Given the description of an element on the screen output the (x, y) to click on. 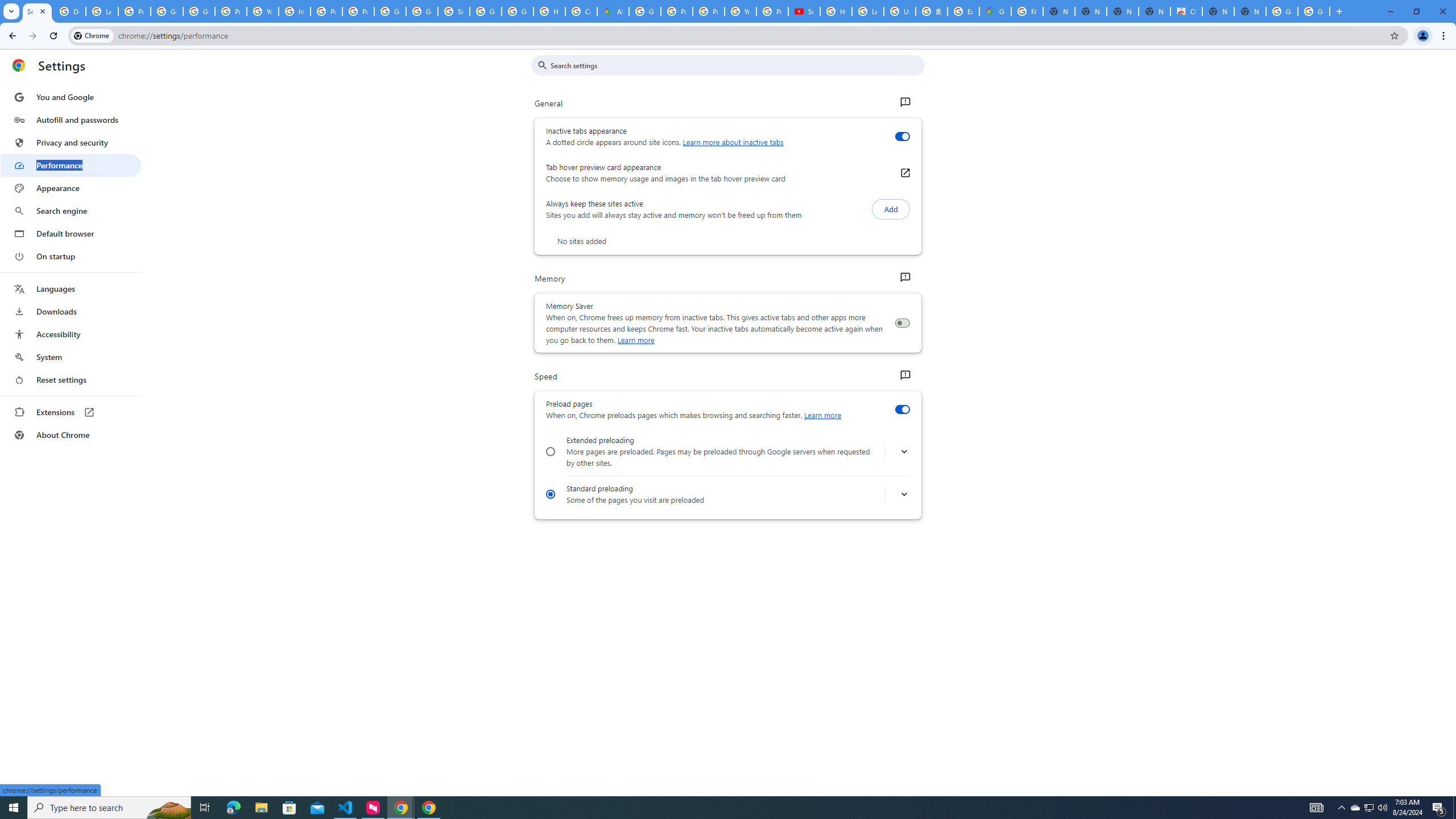
Sign in - Google Accounts (453, 11)
Chrome Web Store (1185, 11)
Memory Saver (901, 323)
Learn more about inactive tabs (732, 141)
 More info about turning on extended preloading (903, 451)
Privacy Help Center - Policies Help (676, 11)
Privacy Help Center - Policies Help (326, 11)
Default browser (70, 233)
Speed (904, 375)
